Given the description of an element on the screen output the (x, y) to click on. 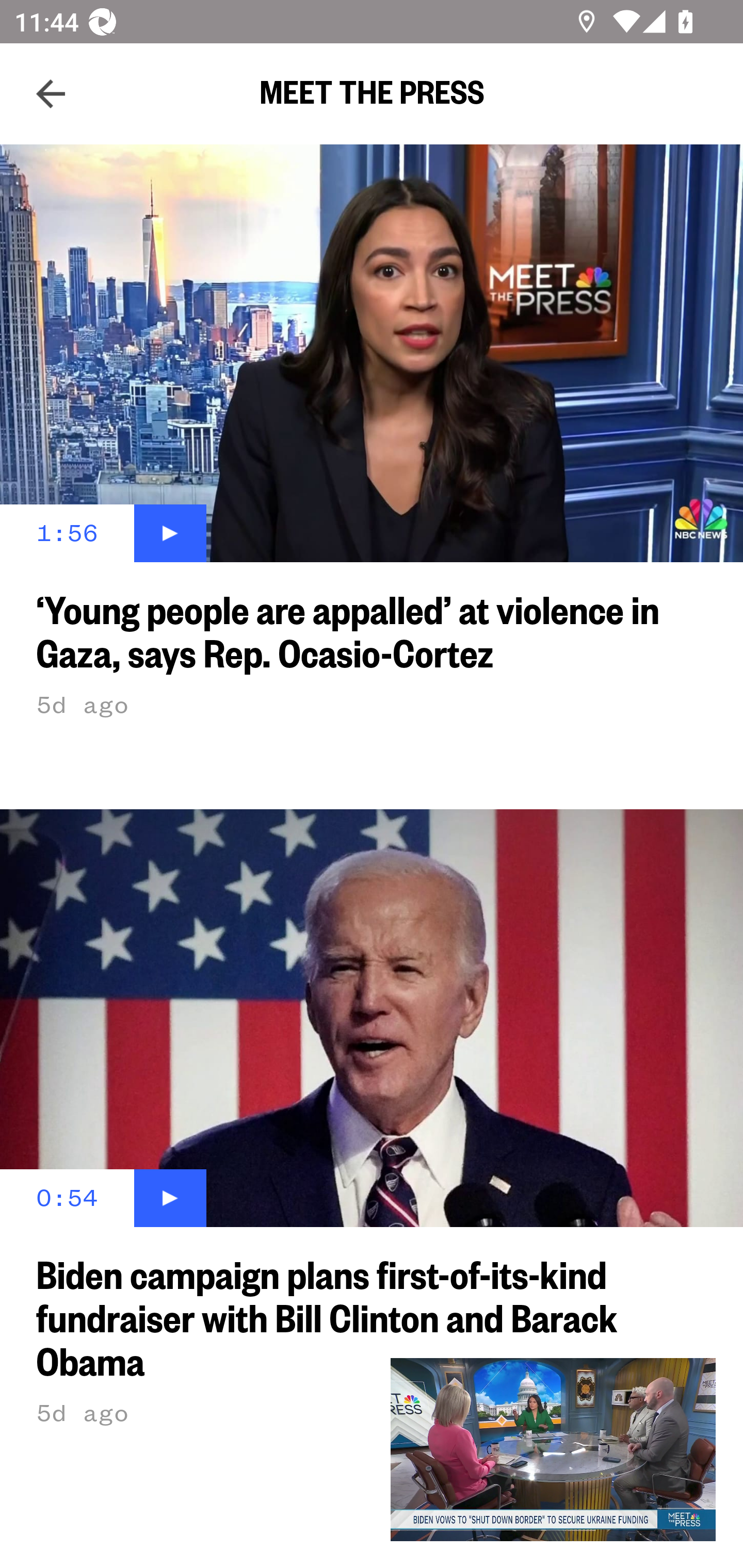
Navigate up (50, 93)
